Given the description of an element on the screen output the (x, y) to click on. 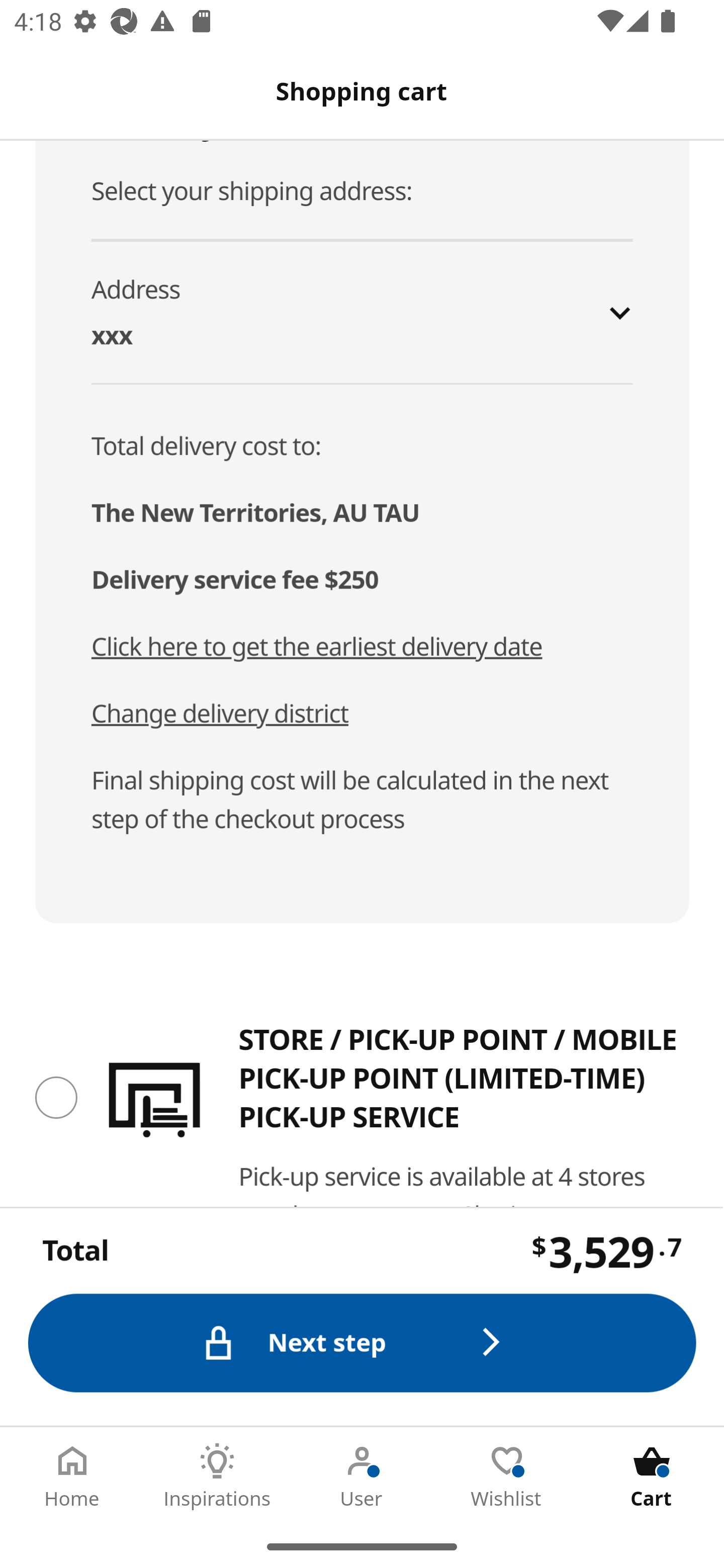
Address xxx  (362, 311)
Click here to get the earliest delivery date (317, 647)
Change delivery district (220, 714)
Home
Tab 1 of 5 (72, 1476)
Inspirations
Tab 2 of 5 (216, 1476)
User
Tab 3 of 5 (361, 1476)
Wishlist
Tab 4 of 5 (506, 1476)
Cart
Tab 5 of 5 (651, 1476)
